Given the description of an element on the screen output the (x, y) to click on. 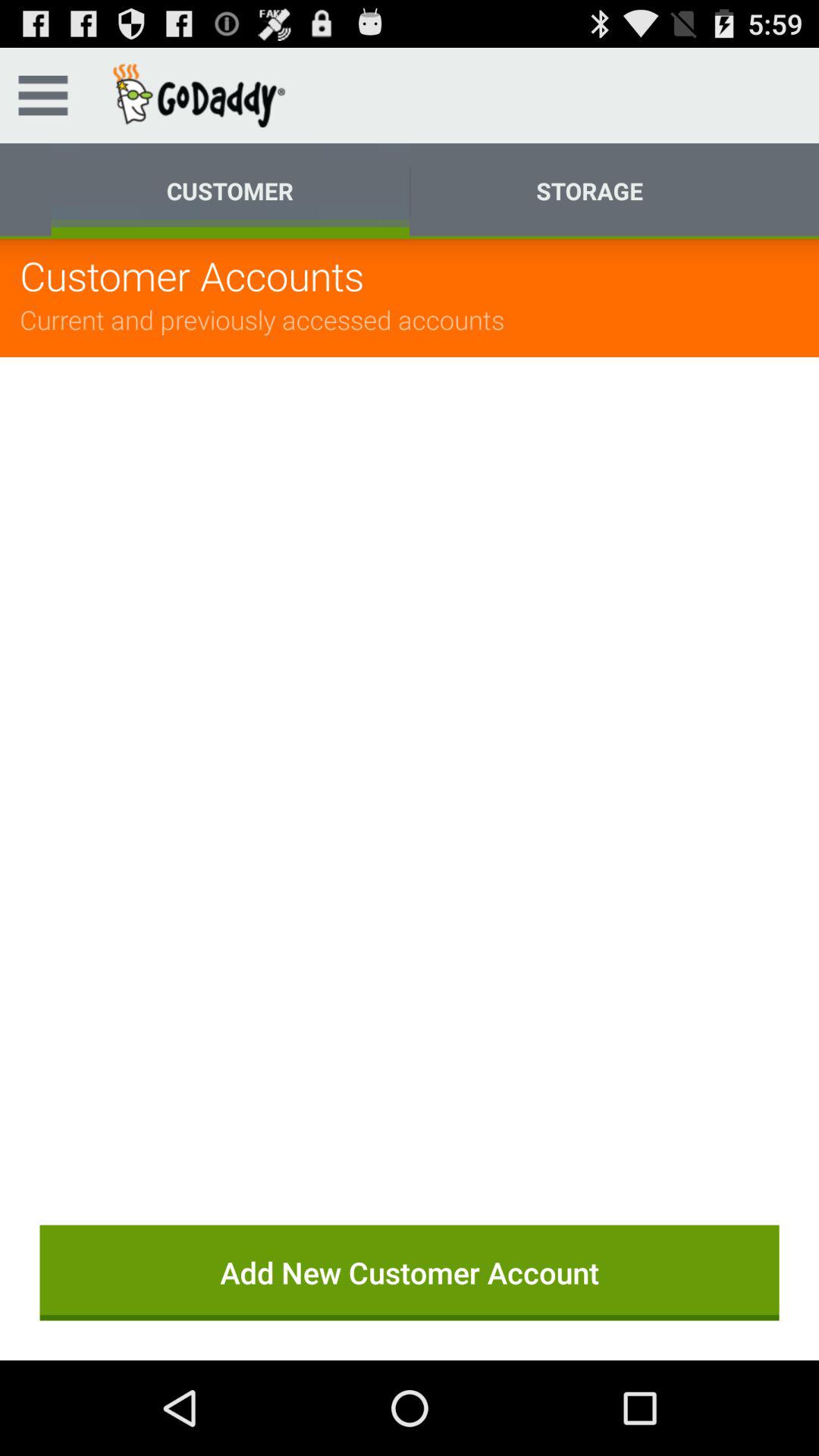
turn on the app below the current and previously item (409, 771)
